Given the description of an element on the screen output the (x, y) to click on. 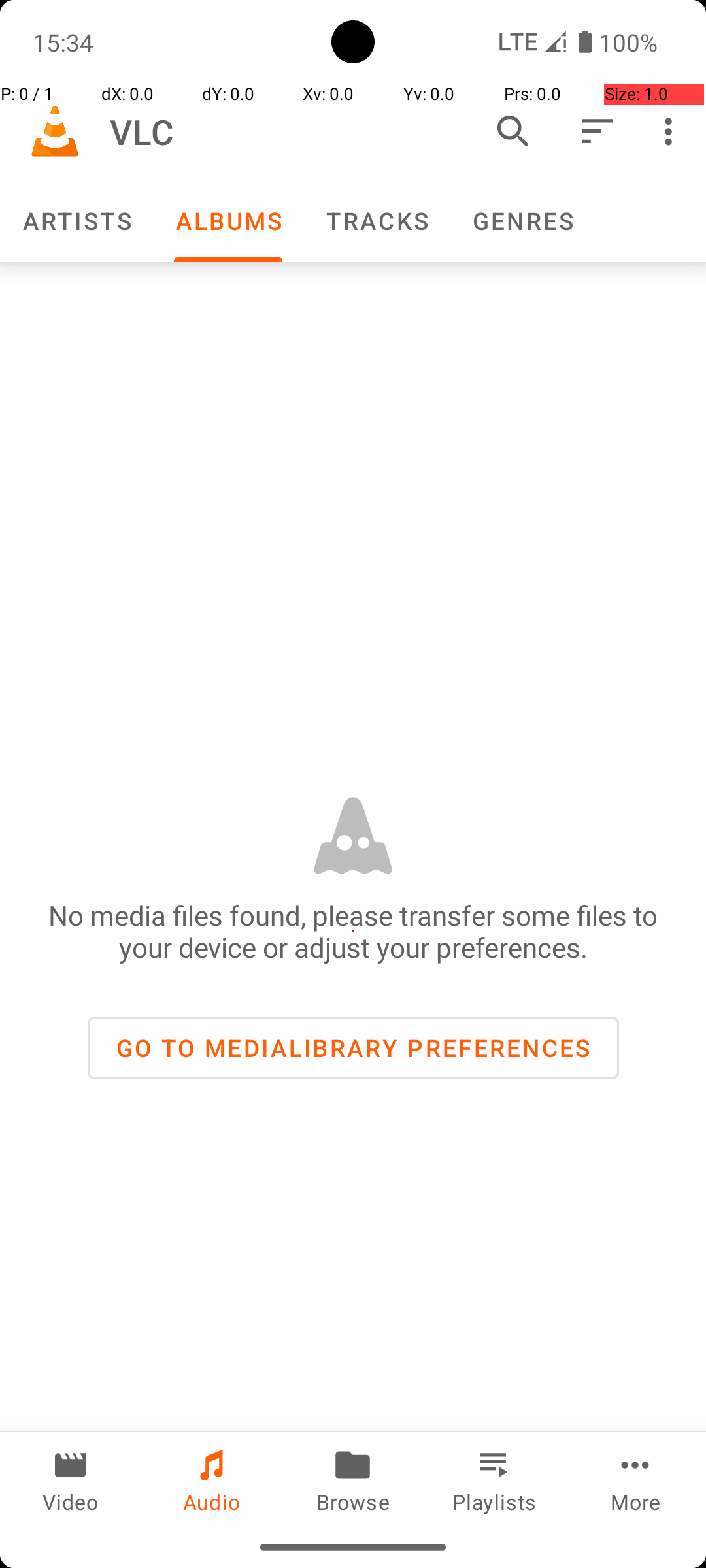
No media files found, please transfer some files to your device or adjust your preferences. Element type: android.widget.TextView (352, 930)
GO TO MEDIALIBRARY PREFERENCES Element type: android.widget.Button (353, 1047)
